Given the description of an element on the screen output the (x, y) to click on. 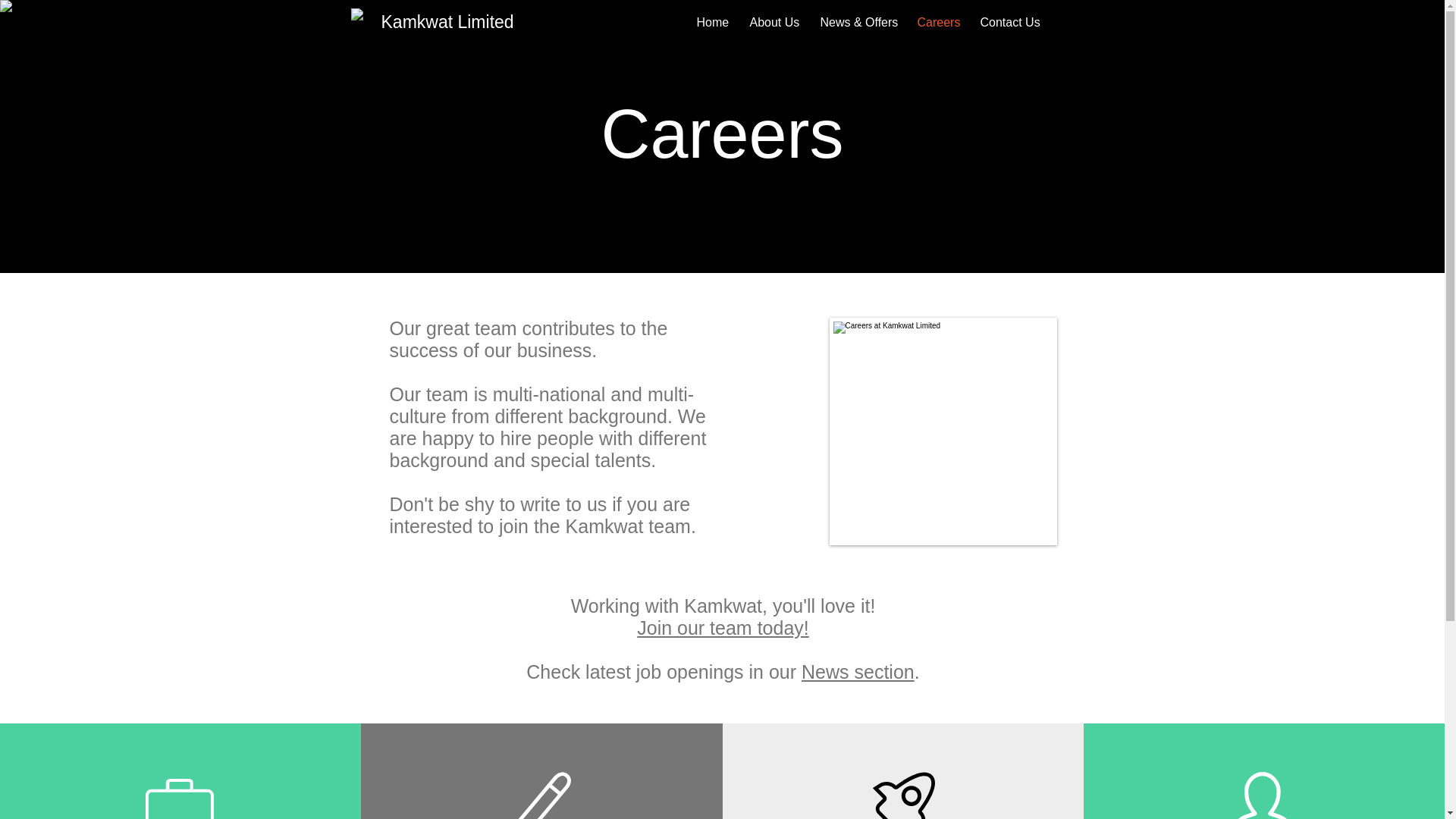
Home (711, 22)
Contact Us (1008, 22)
About Us (773, 22)
Kamkwat Limited (446, 21)
Careers (936, 22)
Join our team today! (723, 627)
News section (858, 671)
